Given the description of an element on the screen output the (x, y) to click on. 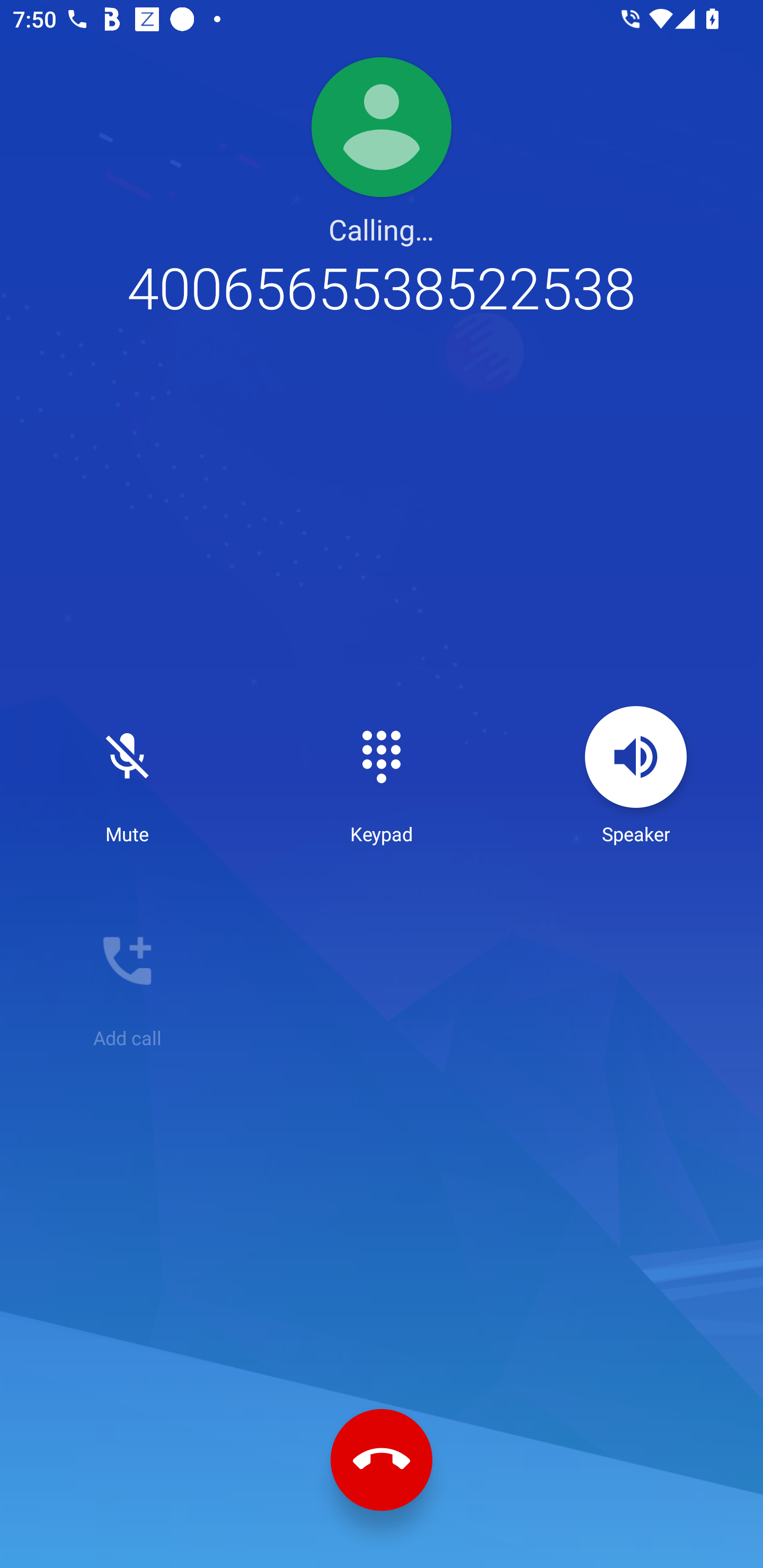
Unmuted Mute (127, 775)
Keypad (381, 775)
Speaker, is on Speaker (635, 775)
Add call (127, 979)
End call (381, 1460)
